Given the description of an element on the screen output the (x, y) to click on. 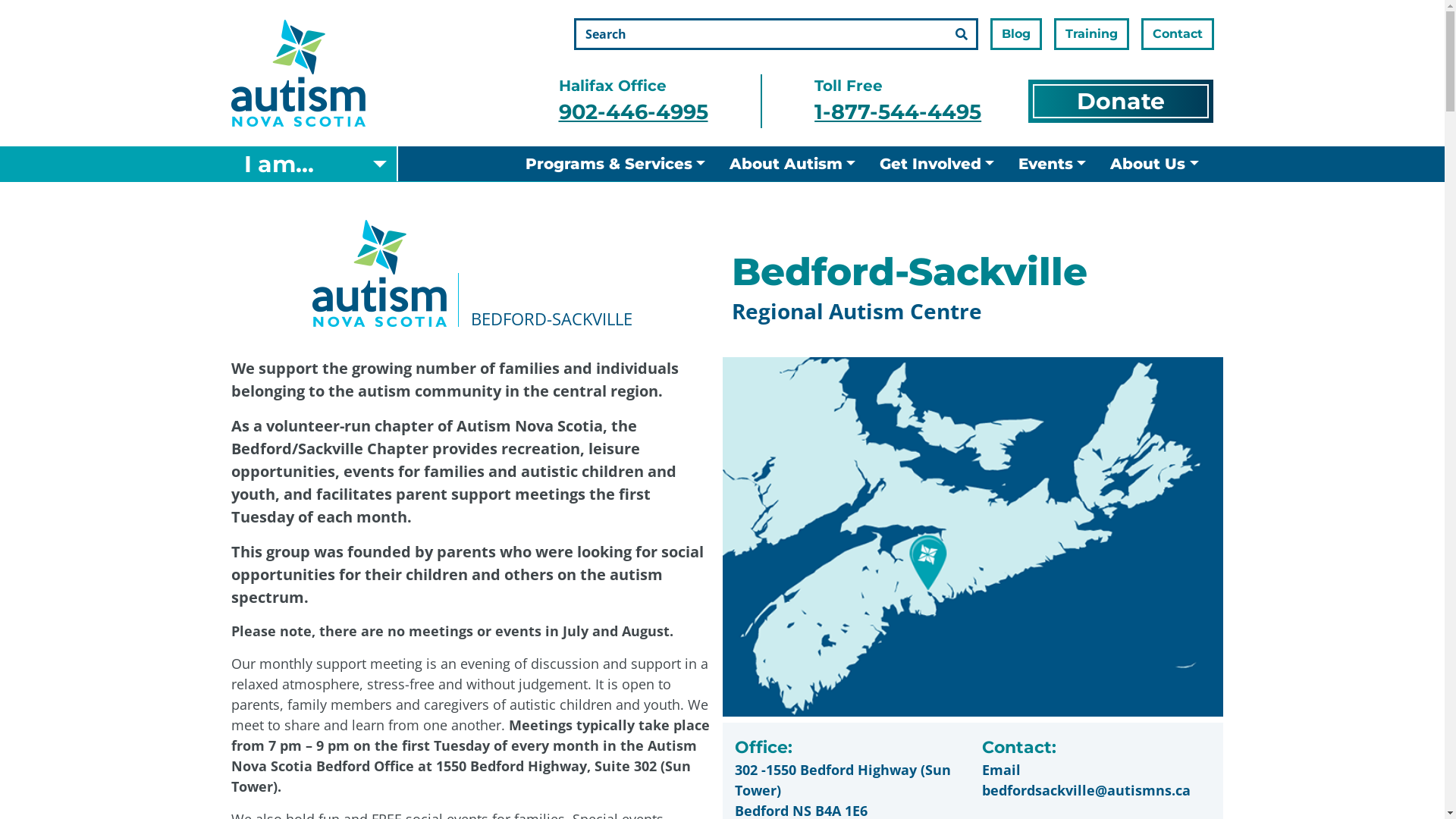
Blog Element type: text (1015, 34)
About Autism Element type: text (792, 163)
Search Element type: text (961, 33)
Events Element type: text (1052, 163)
Contact Element type: text (1176, 34)
Training Element type: text (1091, 34)
Donate Element type: text (1120, 100)
Get Involved Element type: text (936, 163)
About Us Element type: text (1154, 163)
1-877-544-4495 Element type: text (897, 111)
I am... Element type: text (314, 164)
Programs & Services Element type: text (615, 163)
902-446-4995 Element type: text (632, 111)
